Given the description of an element on the screen output the (x, y) to click on. 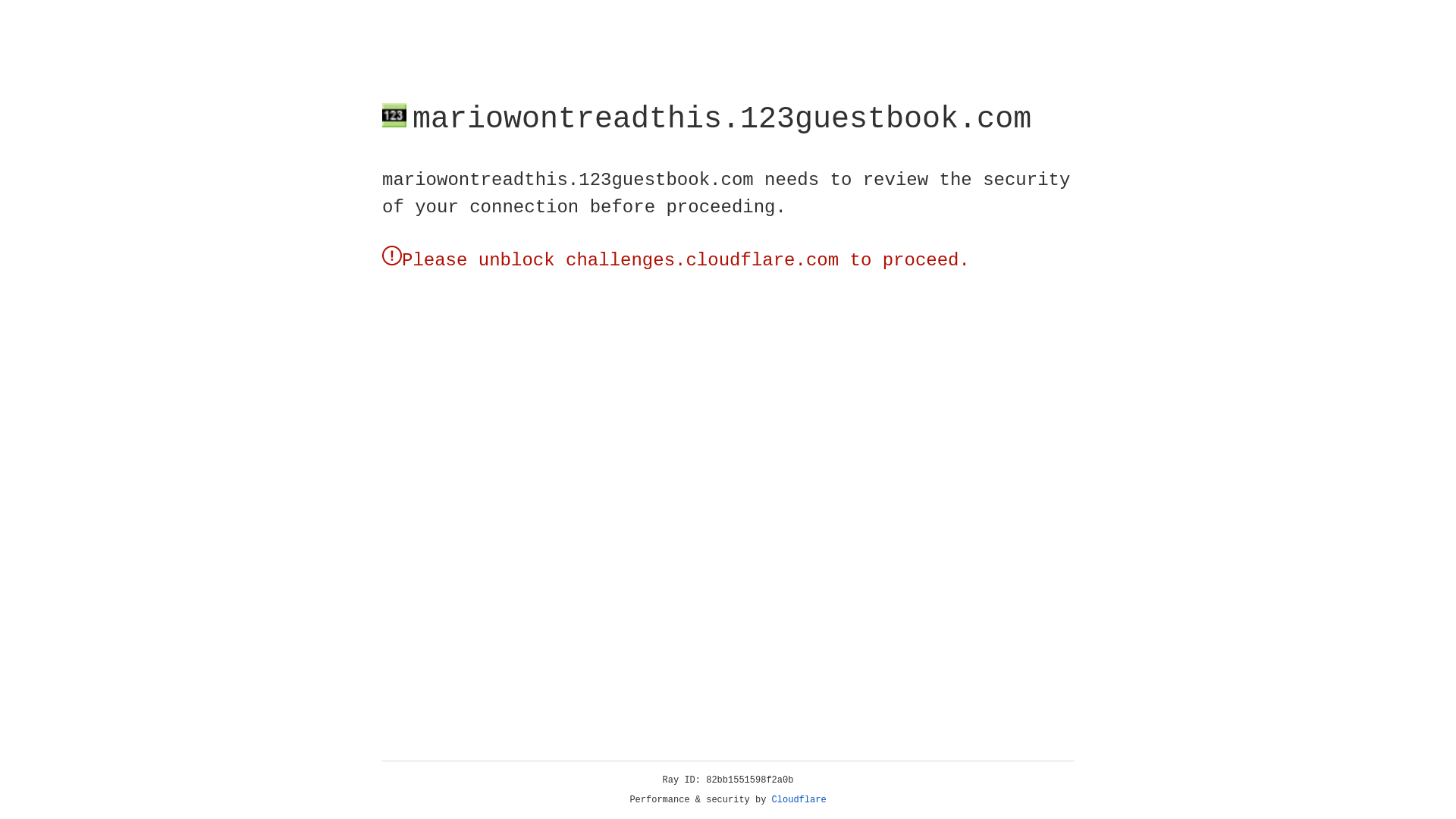
Cloudflare Element type: text (798, 799)
